Given the description of an element on the screen output the (x, y) to click on. 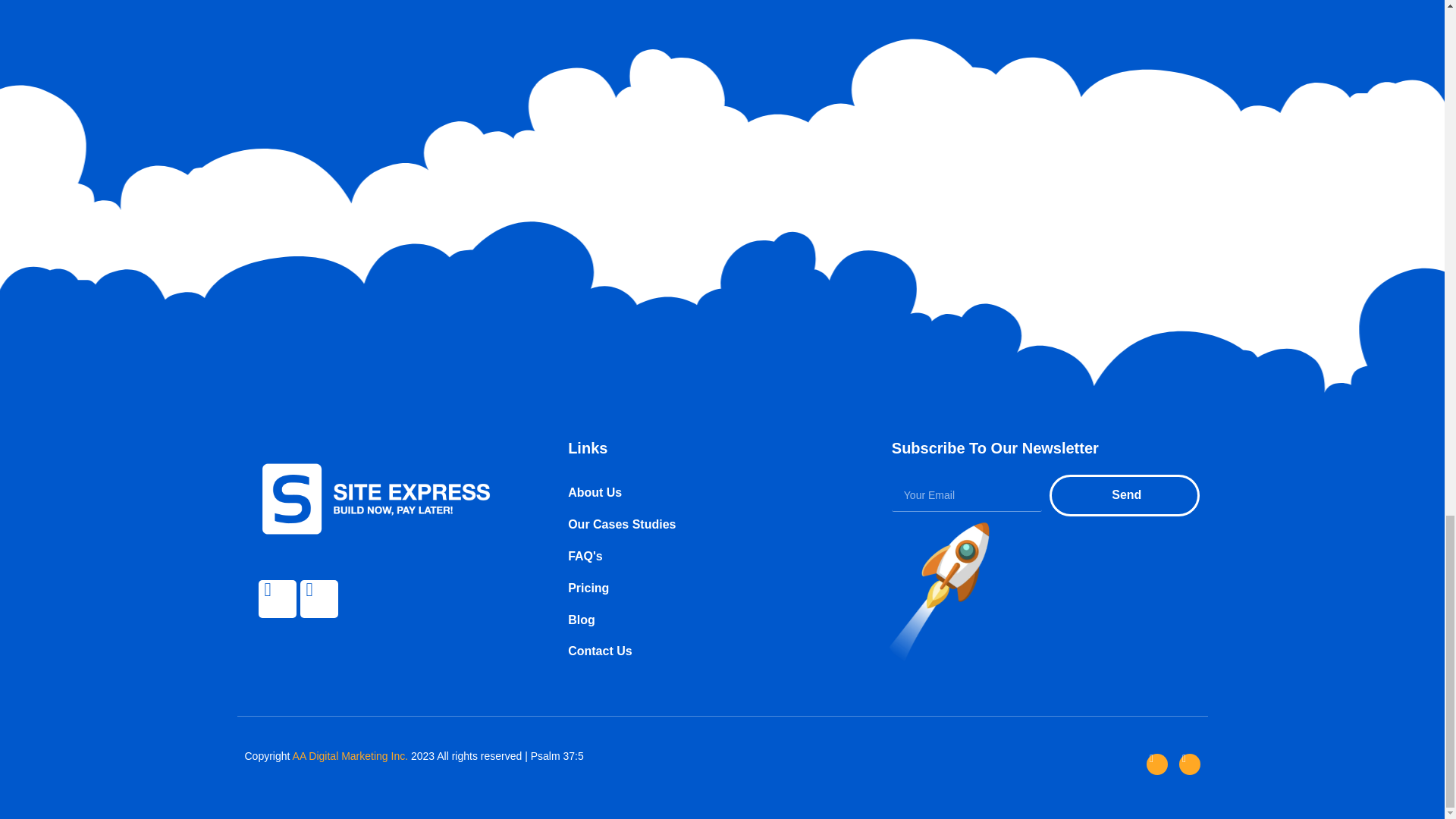
FAQ'S (699, 557)
Send (1124, 495)
About Us (699, 493)
Pricing (699, 588)
Blog (699, 620)
Contact Us (699, 651)
Our Cases Studies (699, 525)
AA Digital Marketing Inc. (350, 756)
